Given the description of an element on the screen output the (x, y) to click on. 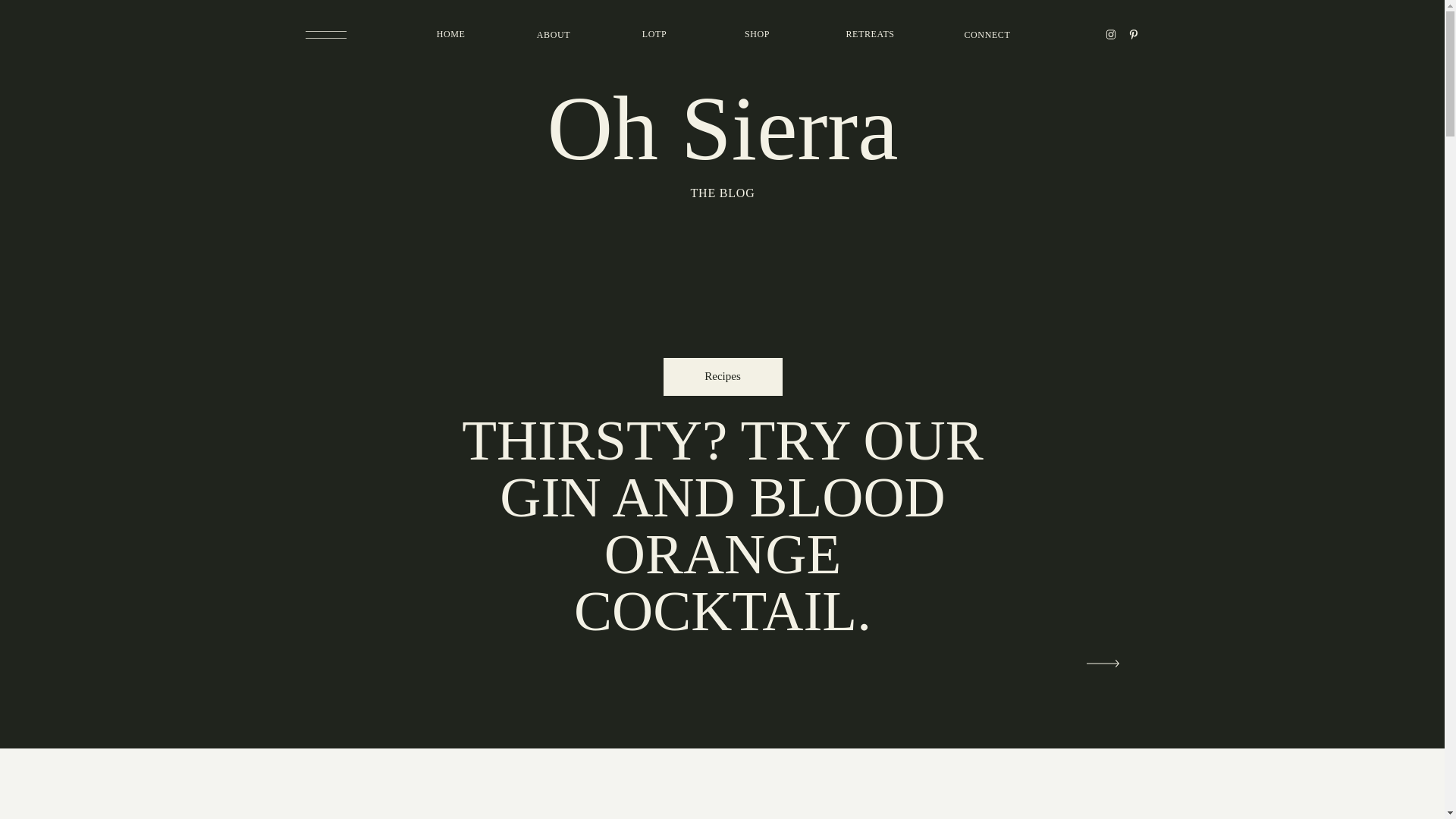
LOTP (654, 35)
Recipes (721, 376)
HOME (451, 35)
RETREATS (870, 35)
CONNECT (986, 35)
SHOP (757, 35)
ABOUT (553, 35)
